Given the description of an element on the screen output the (x, y) to click on. 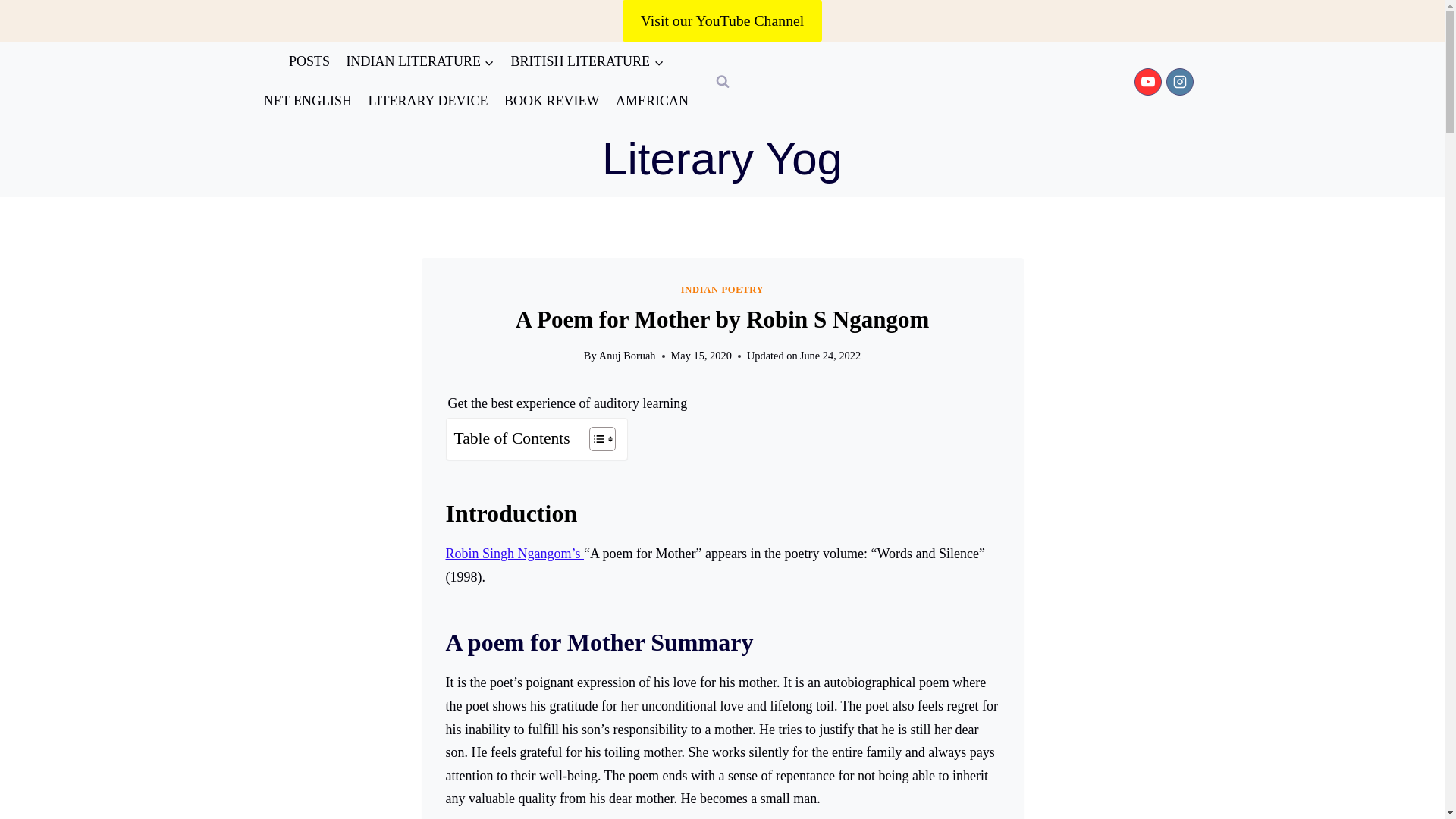
AMERICAN (652, 101)
INDIAN POETRY (722, 289)
Anuj Boruah (627, 355)
BRITISH LITERATURE (586, 61)
POSTS (309, 61)
Literary Yog (722, 158)
BOOK REVIEW (551, 101)
LITERARY DEVICE (427, 101)
INDIAN LITERATURE (419, 61)
Visit our YouTube Channel (722, 20)
NET ENGLISH (307, 101)
